Given the description of an element on the screen output the (x, y) to click on. 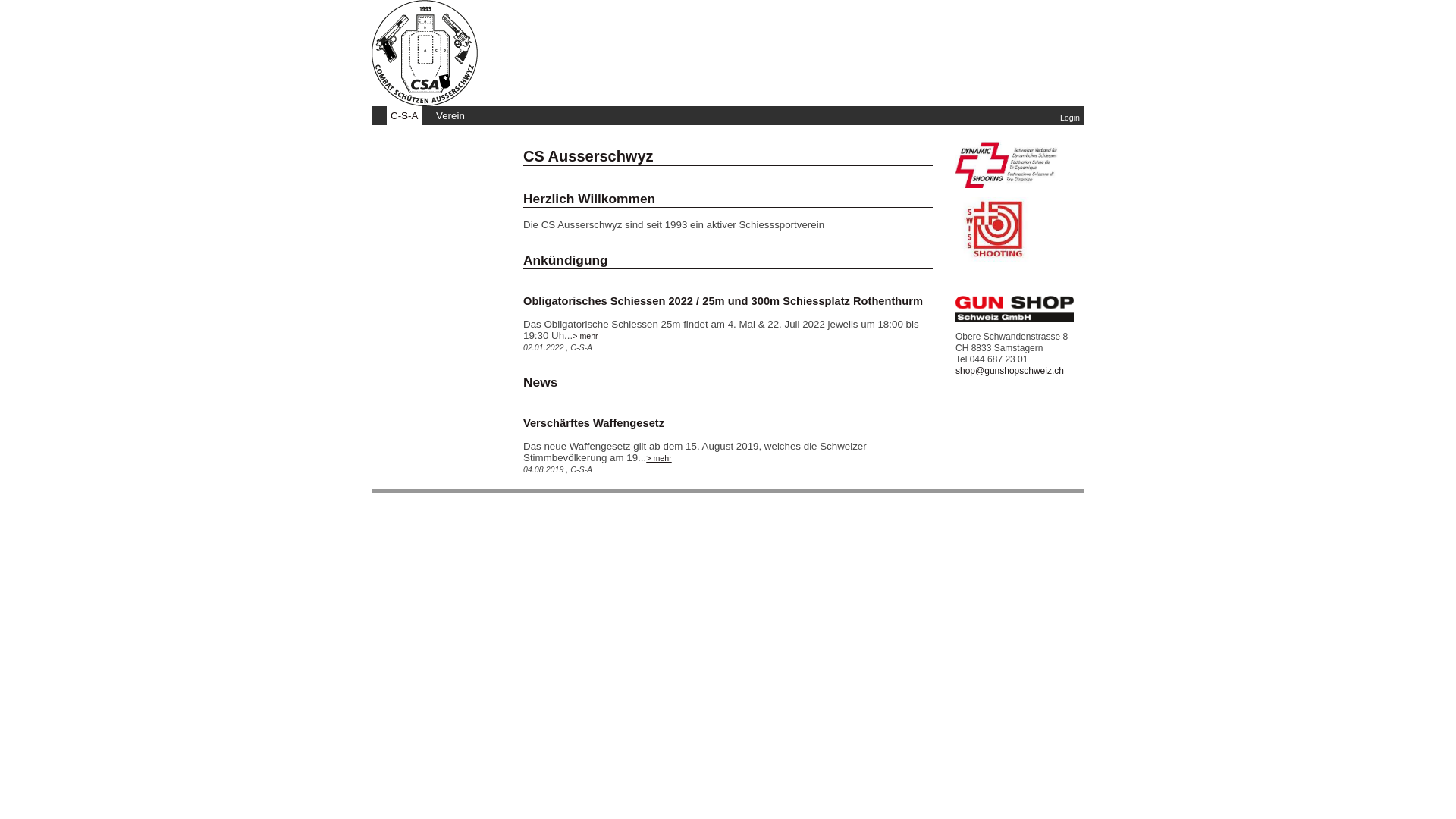
SCHWEIZER SCHIESSSPORTVERBAND SSV Element type: hover (992, 257)
> mehr Element type: text (584, 335)
C-S-A Element type: text (403, 115)
Verein Element type: text (450, 115)
Gunshop Element type: hover (1014, 317)
shop@gunshopschweiz.ch Element type: text (1009, 370)
> mehr Element type: text (658, 457)
Login Element type: text (1069, 117)
